Given the description of an element on the screen output the (x, y) to click on. 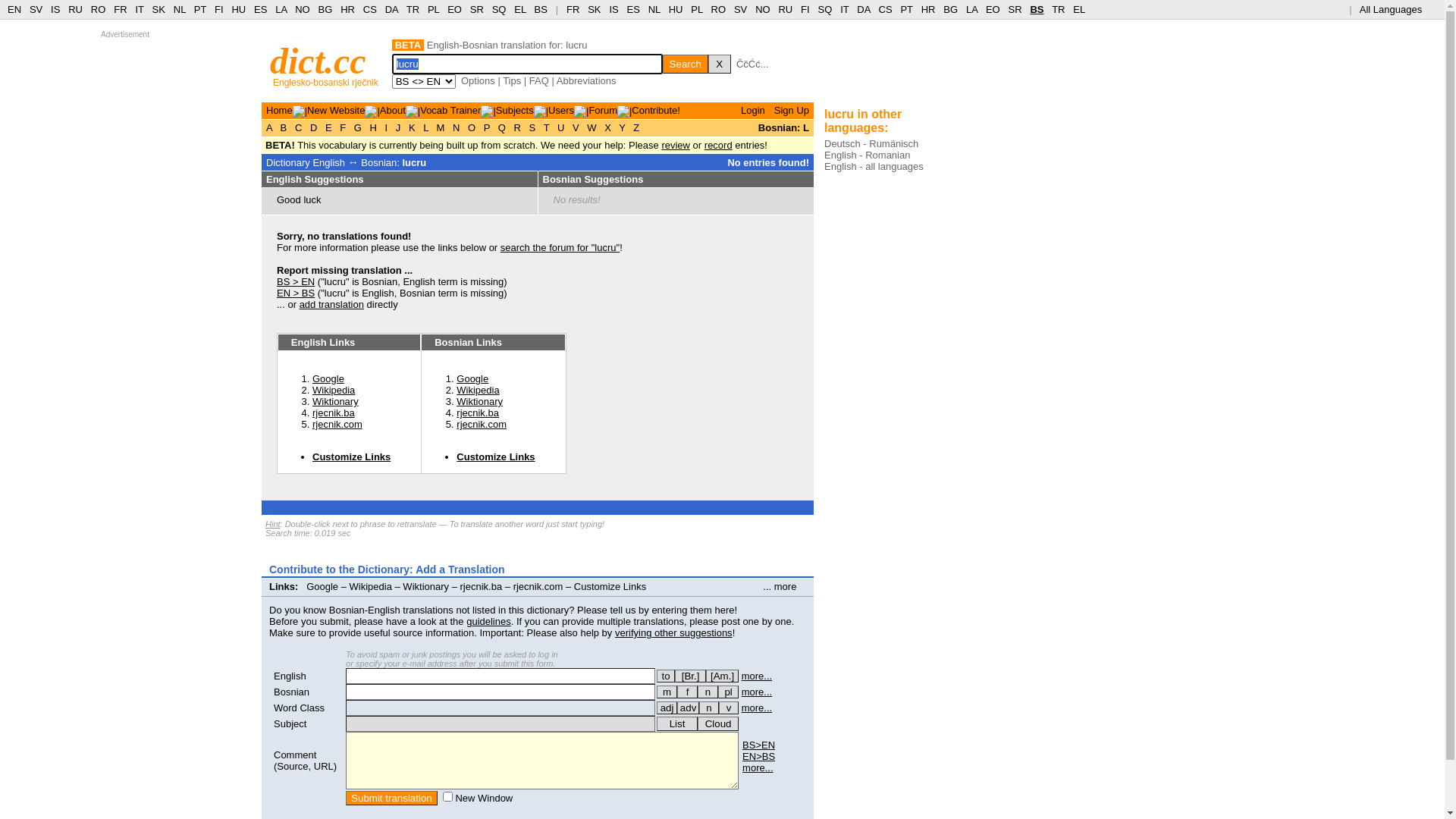
Good luck Element type: text (298, 199)
Cloud Element type: text (717, 723)
adj Element type: text (666, 707)
D Element type: text (313, 127)
TR Element type: text (1057, 9)
R Element type: text (517, 127)
EN > BS Element type: text (295, 292)
Wiktionary Element type: text (479, 401)
FI Element type: text (804, 9)
CS Element type: text (884, 9)
guidelines Element type: text (488, 621)
RU Element type: text (75, 9)
BS Element type: text (1036, 9)
Wiktionary Element type: text (425, 586)
T Element type: text (546, 127)
IS Element type: text (613, 9)
O Element type: text (470, 127)
Abbreviations Element type: text (586, 80)
RU Element type: text (785, 9)
[Am.] Element type: text (722, 675)
SV Element type: text (740, 9)
review Element type: text (675, 144)
dict.cc Element type: text (317, 60)
H Element type: text (373, 127)
DA Element type: text (862, 9)
English Element type: text (289, 675)
SR Element type: text (476, 9)
NO Element type: text (762, 9)
verifying other suggestions Element type: text (673, 632)
RO Element type: text (718, 9)
NL Element type: text (654, 9)
I Element type: text (386, 127)
record Element type: text (718, 144)
LA Element type: text (280, 9)
rjecnik.ba Element type: text (481, 586)
E Element type: text (328, 127)
P Element type: text (486, 127)
K Element type: text (411, 127)
X Element type: text (608, 127)
ES Element type: text (260, 9)
TR Element type: text (412, 9)
English - all languages Element type: text (873, 166)
Submit translation Element type: text (391, 797)
to Element type: text (665, 675)
PL Element type: text (433, 9)
B Element type: text (283, 127)
FR Element type: text (572, 9)
m Element type: text (666, 691)
L Element type: text (425, 127)
Google Element type: text (472, 378)
v Element type: text (728, 707)
U Element type: text (560, 127)
Home Element type: text (279, 110)
SQ Element type: text (499, 9)
srednji rod Element type: hover (707, 691)
Login Element type: text (752, 110)
add translation Element type: text (331, 304)
n Element type: text (707, 691)
rjecnik.ba Element type: text (477, 412)
Wikipedia Element type: text (333, 389)
BG Element type: text (325, 9)
more... Element type: text (756, 691)
IT Element type: text (138, 9)
pl Element type: text (728, 691)
ES Element type: text (633, 9)
HR Element type: text (928, 9)
SV Element type: text (35, 9)
Forum Element type: text (602, 110)
New Website Element type: text (335, 110)
PT Element type: text (200, 9)
EN Element type: text (14, 9)
EL Element type: text (1079, 9)
rjecnik.com Element type: text (337, 423)
Bosnian: L Element type: text (783, 127)
M Element type: text (440, 127)
SQ Element type: text (824, 9)
NO Element type: text (302, 9)
Tips Element type: text (511, 80)
All Languages  Element type: text (1396, 9)
F Element type: text (342, 127)
Vocab Trainer Element type: text (450, 110)
Sign Up Element type: text (791, 110)
BS > EN Element type: text (295, 281)
Wikipedia Element type: text (477, 389)
Wikipedia Element type: text (370, 586)
more... Element type: text (756, 707)
RO Element type: text (98, 9)
PT Element type: text (906, 9)
BS>EN Element type: text (758, 744)
rjecnik.ba Element type: text (333, 412)
X Element type: text (719, 63)
lucru Element type: text (413, 162)
List Element type: text (676, 723)
Contribute to the Dictionary: Add a Translation Element type: text (387, 569)
BG Element type: text (950, 9)
DA Element type: text (391, 9)
Z Element type: text (636, 127)
Bosnian Element type: text (291, 691)
EL Element type: text (519, 9)
Subjects Element type: text (514, 110)
G Element type: text (357, 127)
Customize Links Element type: text (495, 456)
W Element type: text (591, 127)
rjecnik.com Element type: text (481, 423)
Options Element type: text (478, 80)
Users Element type: text (561, 110)
IS Element type: text (54, 9)
FAQ Element type: text (539, 80)
... more Element type: text (784, 586)
FI Element type: text (218, 9)
PL Element type: text (696, 9)
Wiktionary Element type: text (335, 401)
Contribute! Element type: text (655, 110)
f Element type: text (687, 691)
more... Element type: text (756, 675)
adv Element type: text (688, 707)
IT Element type: text (844, 9)
LA Element type: text (971, 9)
more... Element type: text (757, 767)
Google Element type: text (328, 378)
rjecnik.com Element type: text (538, 586)
Customize Links Element type: text (610, 586)
BS Element type: text (540, 9)
HR Element type: text (347, 9)
English - Romanian Element type: text (867, 154)
HU Element type: text (675, 9)
S Element type: text (532, 127)
(esp.) British English Element type: hover (690, 675)
N Element type: text (455, 127)
CS Element type: text (369, 9)
n Element type: text (708, 707)
V Element type: text (575, 127)
SR Element type: text (1015, 9)
Hint Element type: text (272, 523)
Search Element type: text (685, 63)
[Br.] Element type: text (690, 675)
FR Element type: text (119, 9)
SK Element type: text (593, 9)
About Element type: text (392, 110)
Dictionary Element type: text (288, 162)
EO Element type: text (992, 9)
Y Element type: text (621, 127)
C Element type: text (297, 127)
search the forum for "lucru" Element type: text (559, 247)
SK Element type: text (158, 9)
A Element type: text (270, 127)
NL Element type: text (179, 9)
EN>BS Element type: text (758, 756)
(esp.) American English Element type: hover (722, 675)
EO Element type: text (454, 9)
HU Element type: text (238, 9)
Customize Links Element type: text (351, 456)
for verbs Element type: hover (665, 675)
Q Element type: text (501, 127)
J Element type: text (397, 127)
Google Element type: text (322, 586)
